Given the description of an element on the screen output the (x, y) to click on. 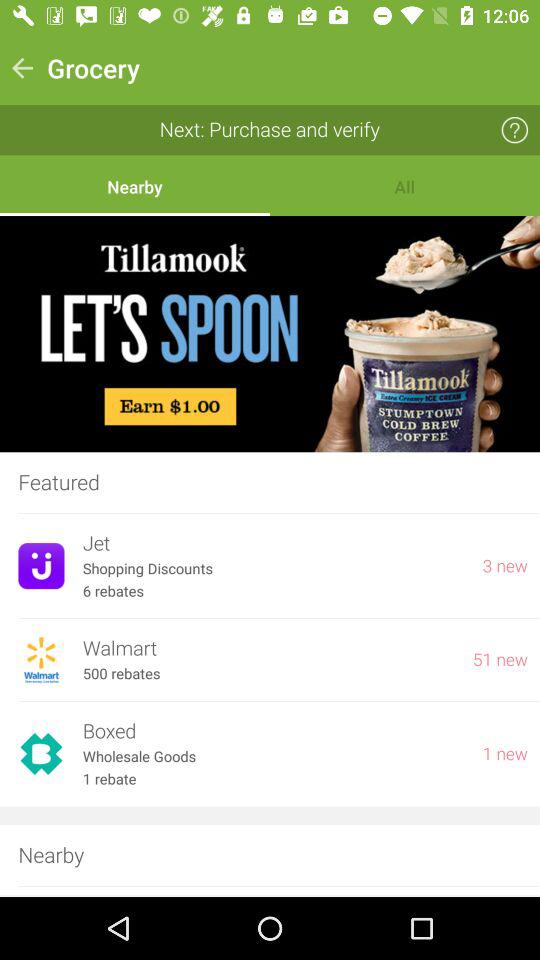
click icon above 6 rebates icon (273, 568)
